Given the description of an element on the screen output the (x, y) to click on. 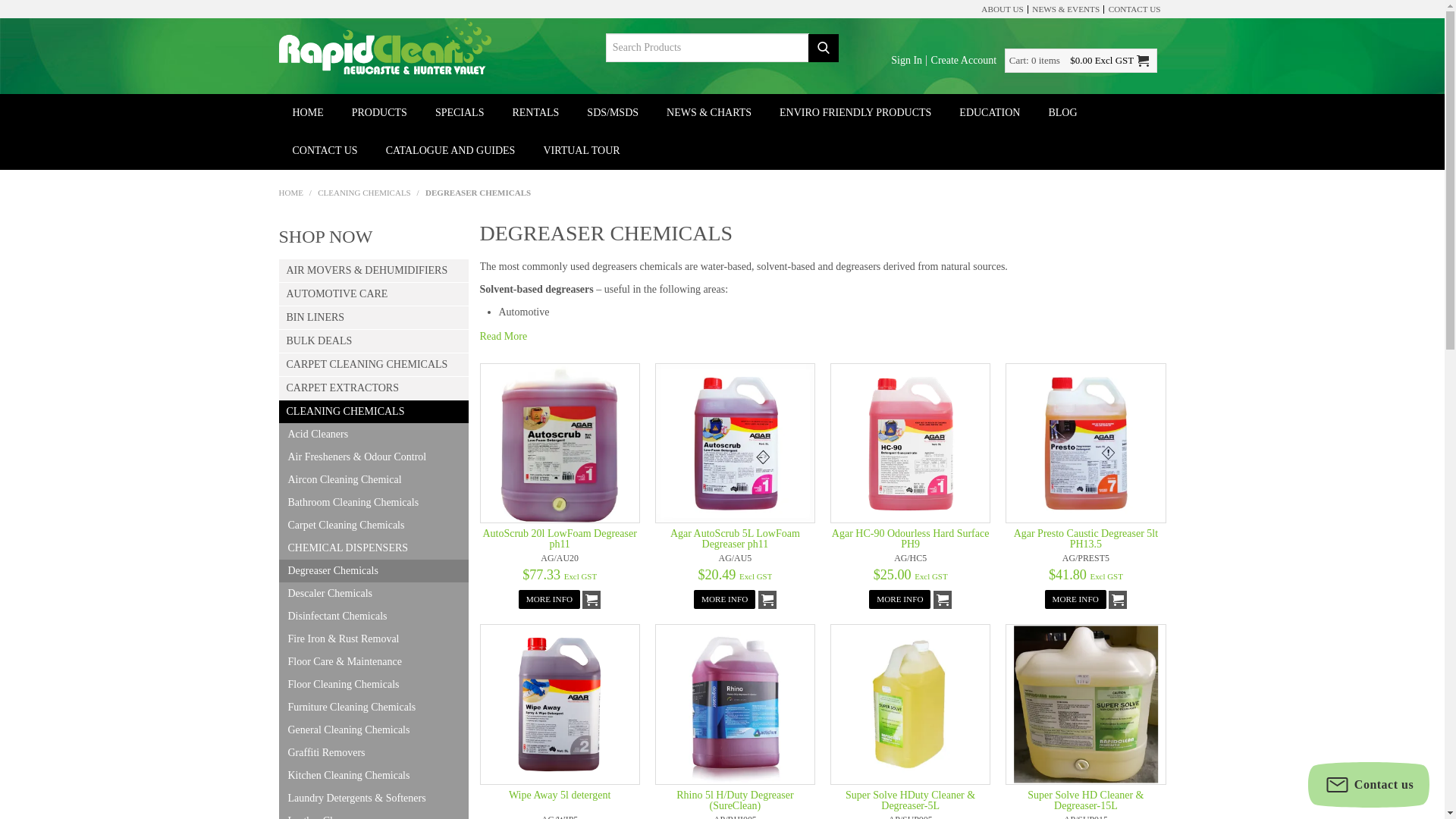
Search (823, 48)
Wipe Away 5l detergent (560, 703)
Sign In (906, 60)
Search (823, 48)
Rapid Clean Logo (385, 47)
ABOUT US (1002, 8)
Agar AutoScrub 5L LowFoam Degreaser ph11 (734, 442)
Agar Presto Caustic Degreaser 5lt PH13.5 (1085, 442)
Cart: 0 items (1034, 60)
Create Account (964, 60)
AutoScrub 20l LowFoam Degreaser ph11 (560, 442)
Agar HC-90 Odourless Hard Surface PH9 (909, 442)
CONTACT US (1134, 8)
